Given the description of an element on the screen output the (x, y) to click on. 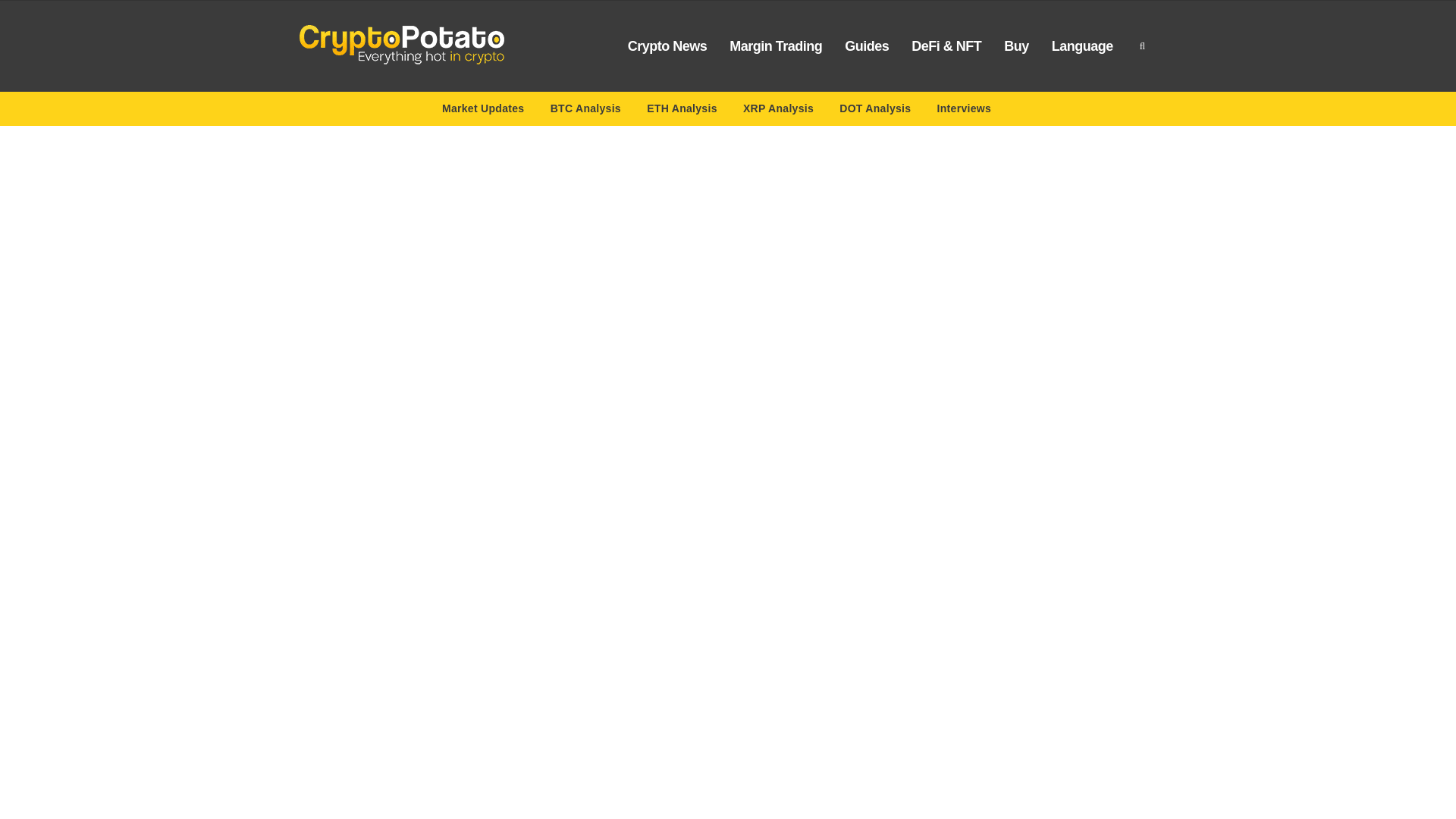
Interviews (964, 110)
Language (1082, 45)
Market Updates (483, 110)
XRP Analysis (777, 110)
DOT Analysis (875, 110)
Margin Trading (774, 45)
Crypto News (667, 45)
BTC Analysis (585, 110)
ETH Analysis (681, 110)
